Given the description of an element on the screen output the (x, y) to click on. 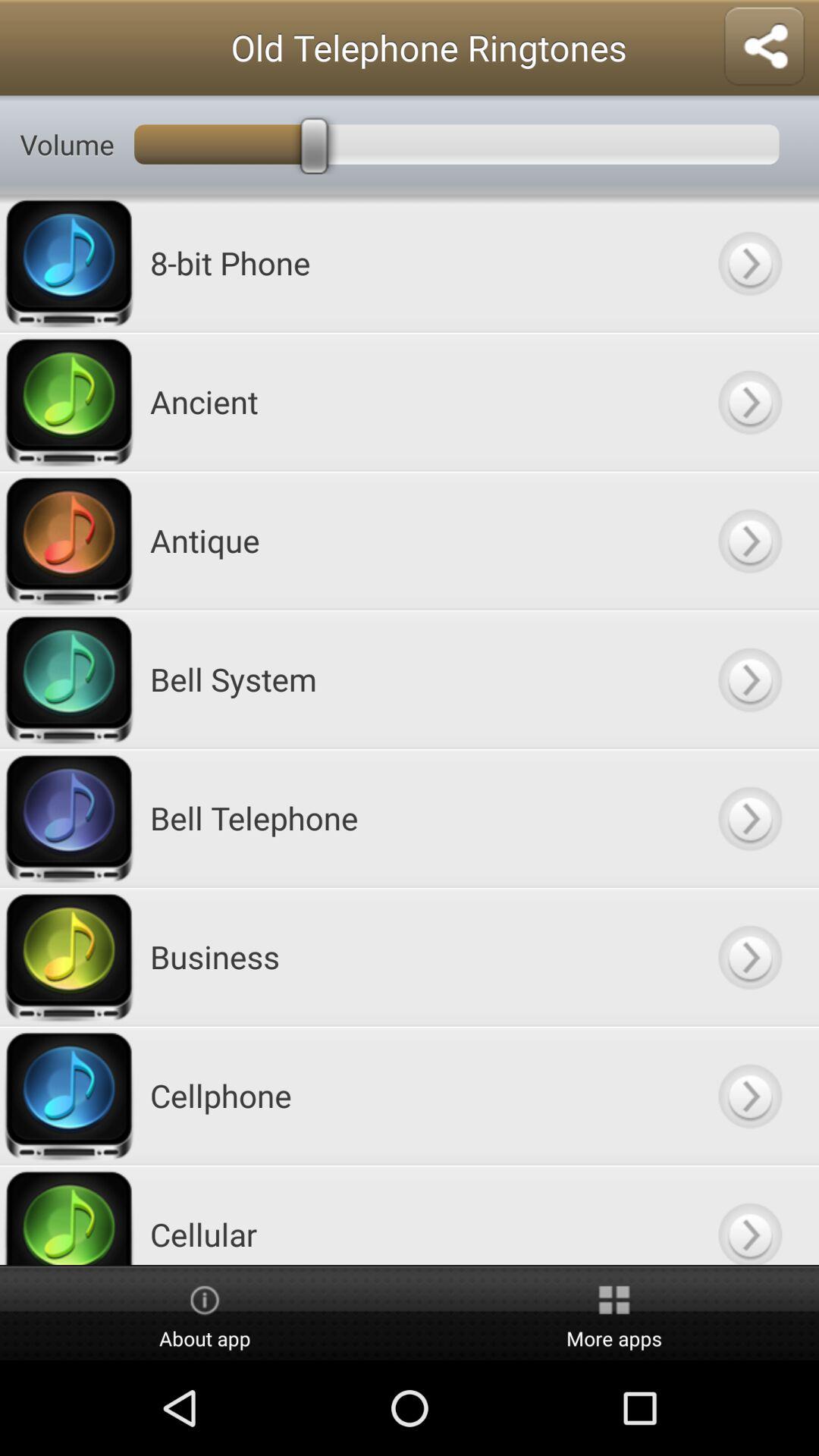
play button (749, 679)
